Given the description of an element on the screen output the (x, y) to click on. 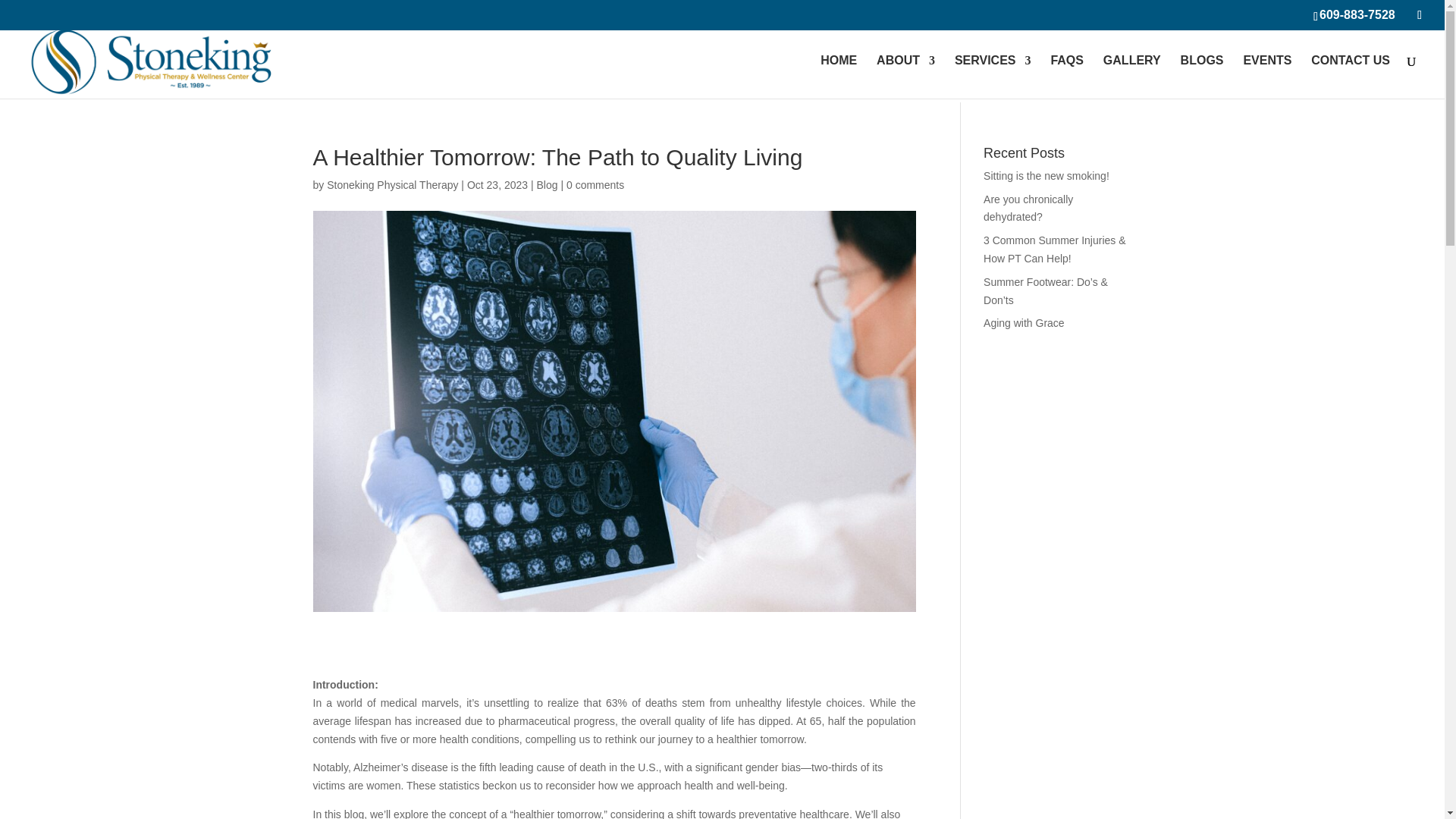
0 comments (595, 184)
SERVICES (992, 76)
Posts by Stoneking Physical Therapy (392, 184)
EVENTS (1267, 76)
609-883-7528 (1356, 14)
Are you chronically dehydrated? (1028, 208)
CONTACT US (1350, 76)
Stoneking Physical Therapy (392, 184)
BLOGS (1202, 76)
ABOUT (905, 76)
